Given the description of an element on the screen output the (x, y) to click on. 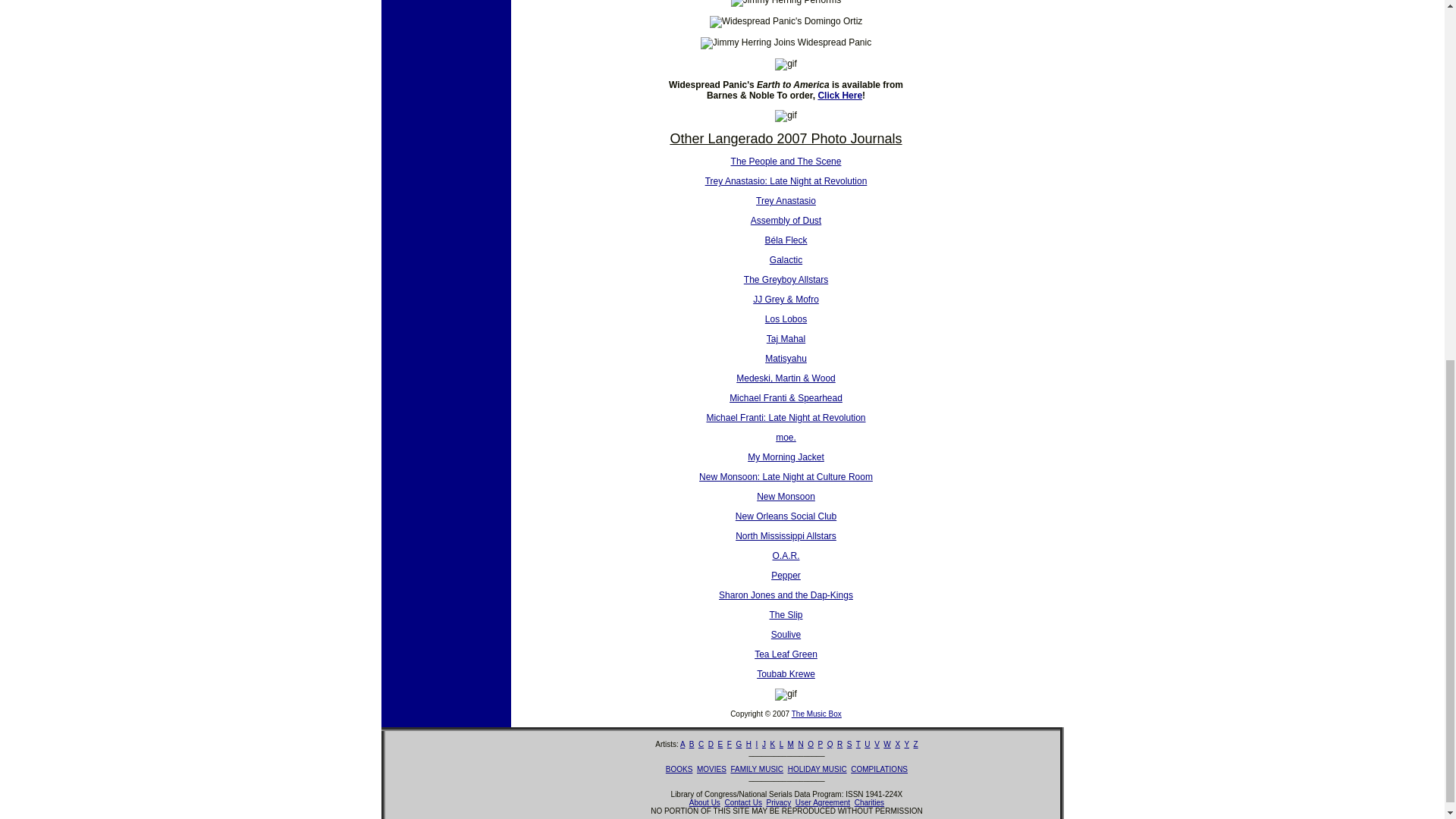
Matisyahu (785, 357)
Trey Anastasio (785, 200)
The People and The Scene (785, 161)
North Mississippi Allstars (785, 535)
New Monsoon (786, 496)
New Orleans Social Club (785, 516)
Los Lobos (785, 318)
My Morning Jacket (786, 457)
Trey Anastasio: Late Night at Revolution (785, 181)
Assembly of Dust (786, 220)
Michael Franti: Late Night at Revolution (785, 417)
Taj Mahal (786, 338)
New Monsoon: Late Night at Culture Room (785, 476)
Galactic (786, 259)
Click Here (838, 95)
